Given the description of an element on the screen output the (x, y) to click on. 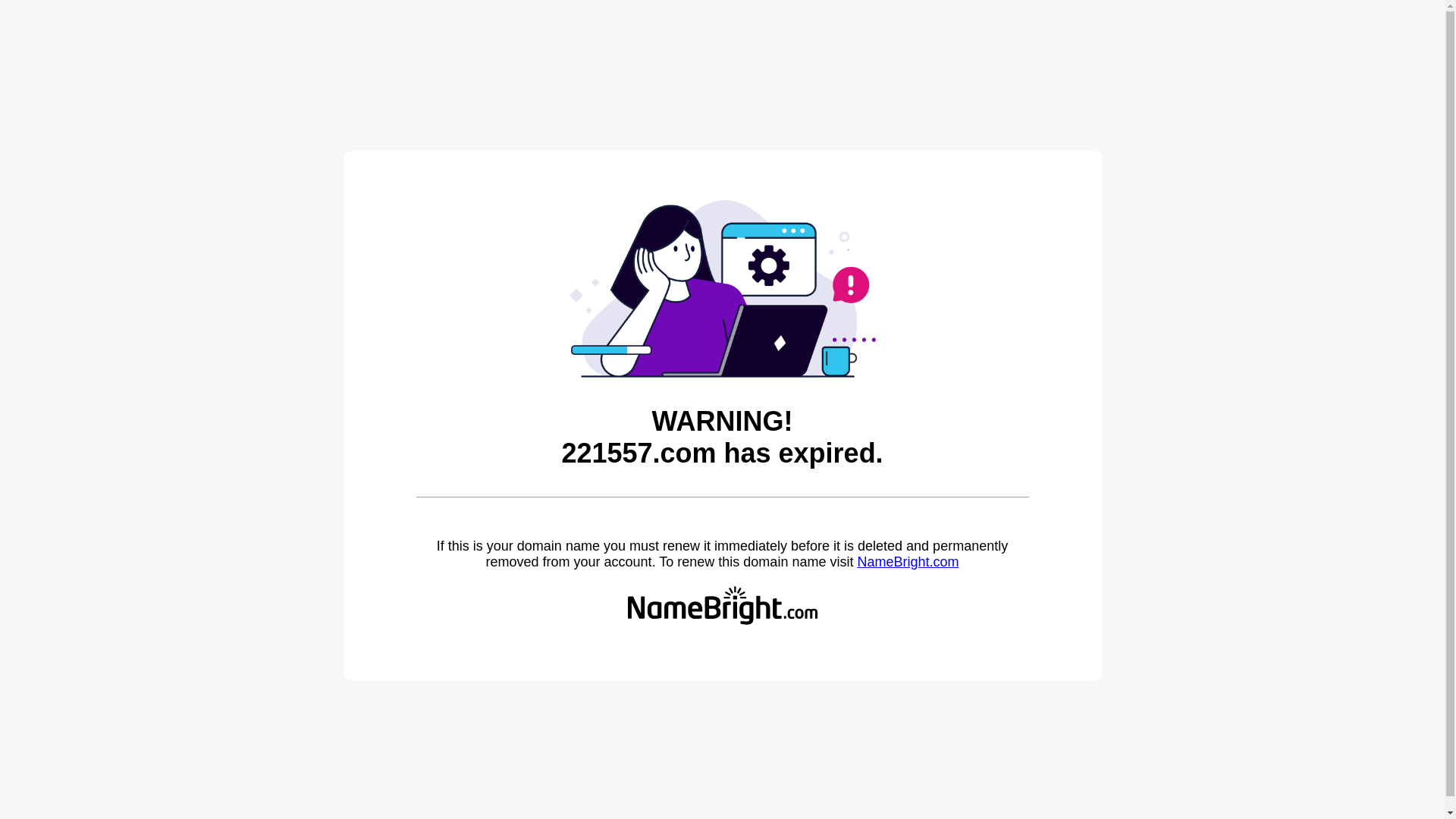
NameBright.com Element type: text (907, 561)
